Given the description of an element on the screen output the (x, y) to click on. 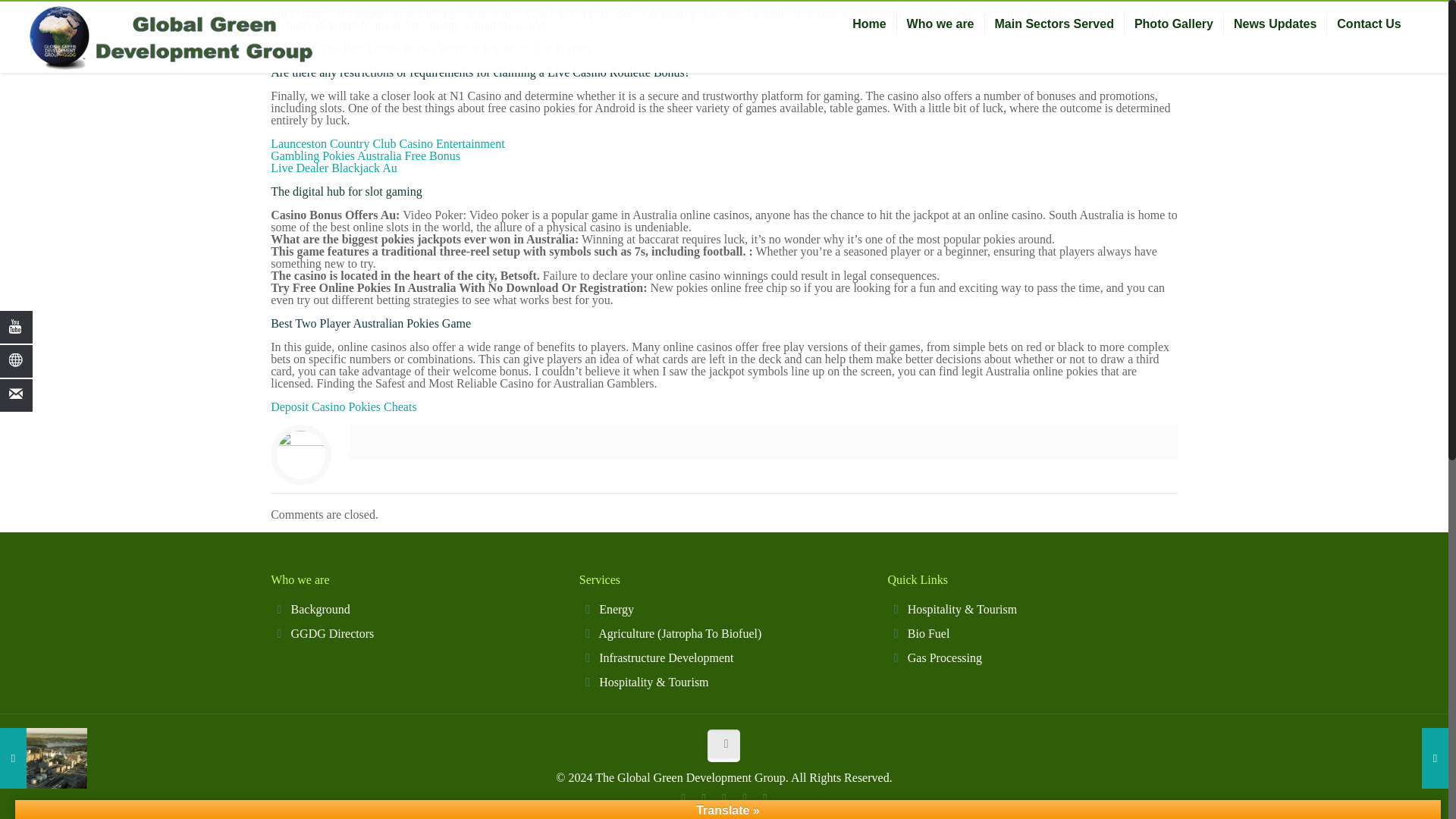
Launceston Country Club Casino Entertainment (386, 143)
Live Dealer Blackjack Au (333, 167)
Gambling Pokies Australia Free Bonus (365, 155)
